Given the description of an element on the screen output the (x, y) to click on. 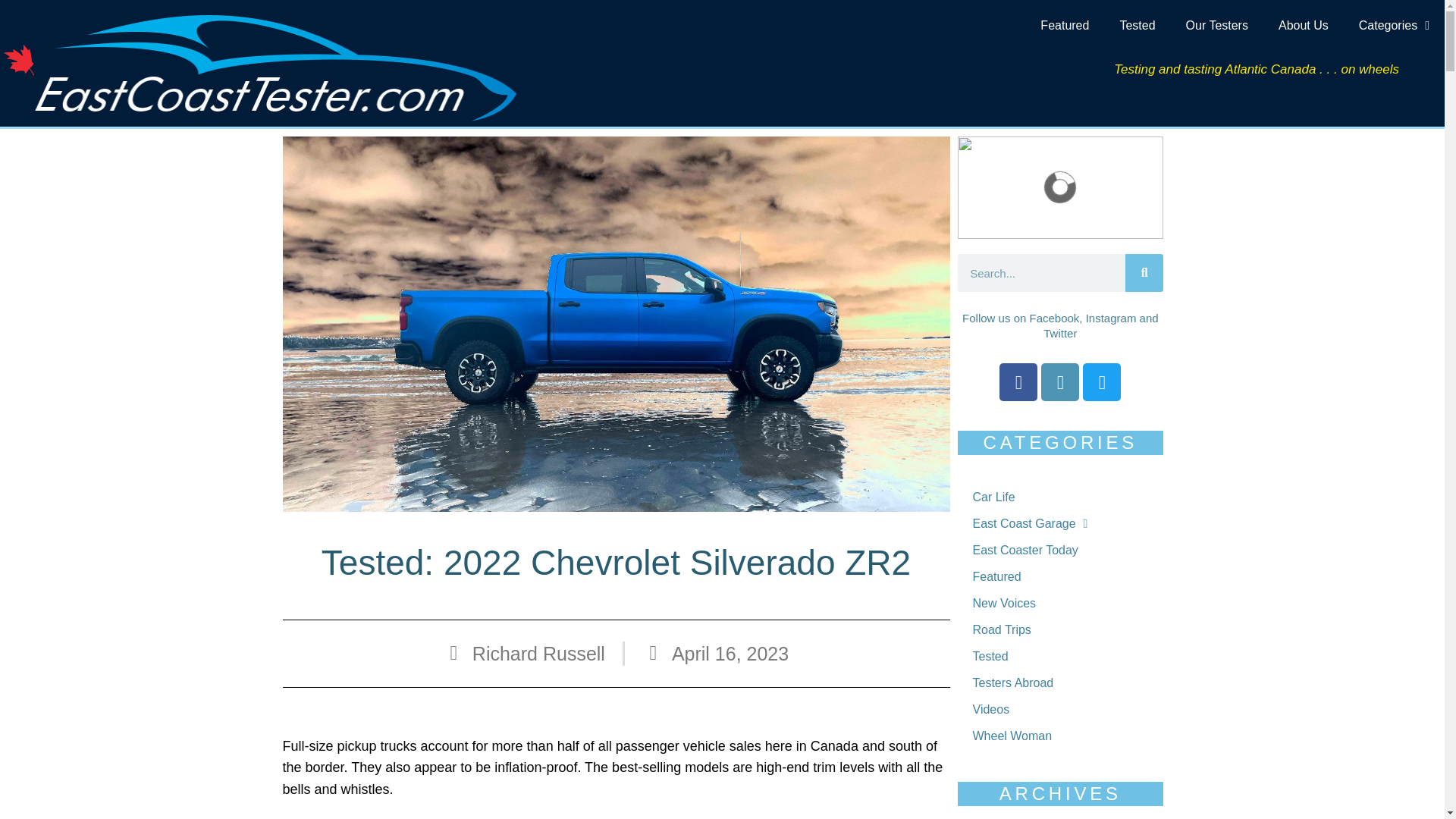
About Us (1303, 25)
Featured (1064, 25)
Our Testers (1216, 25)
Tested (1136, 25)
